Given the description of an element on the screen output the (x, y) to click on. 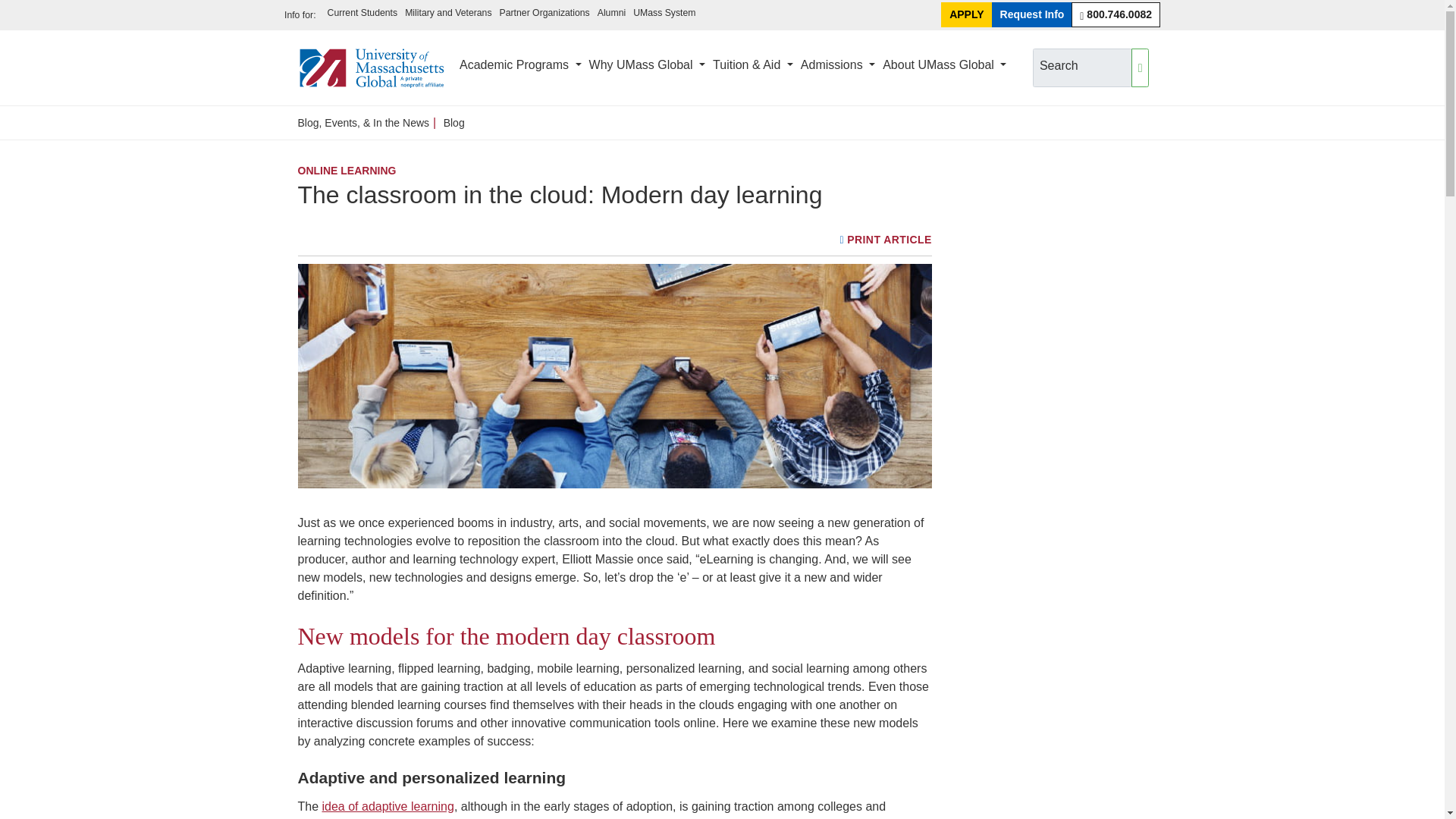
Alumni (611, 14)
Current Students (362, 14)
Why UMass Global (647, 67)
Academic Programs (520, 67)
Partner Organizations (545, 14)
APPLY (965, 14)
Military and Veterans (448, 14)
Admissions (837, 67)
UMass System (663, 14)
Request Info (1032, 14)
